Given the description of an element on the screen output the (x, y) to click on. 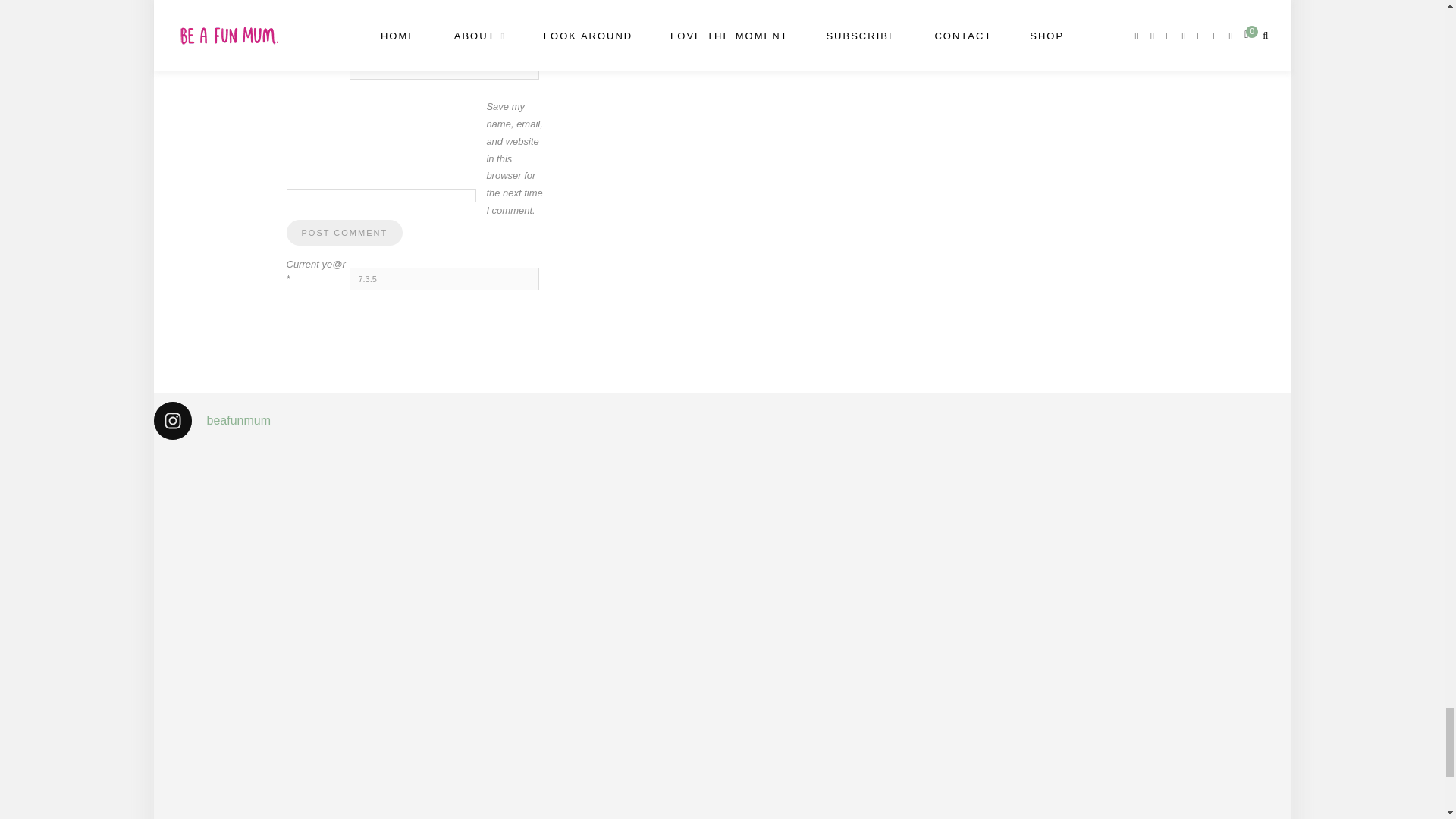
yes (381, 195)
Post Comment (344, 232)
7.3.5 (443, 278)
